Given the description of an element on the screen output the (x, y) to click on. 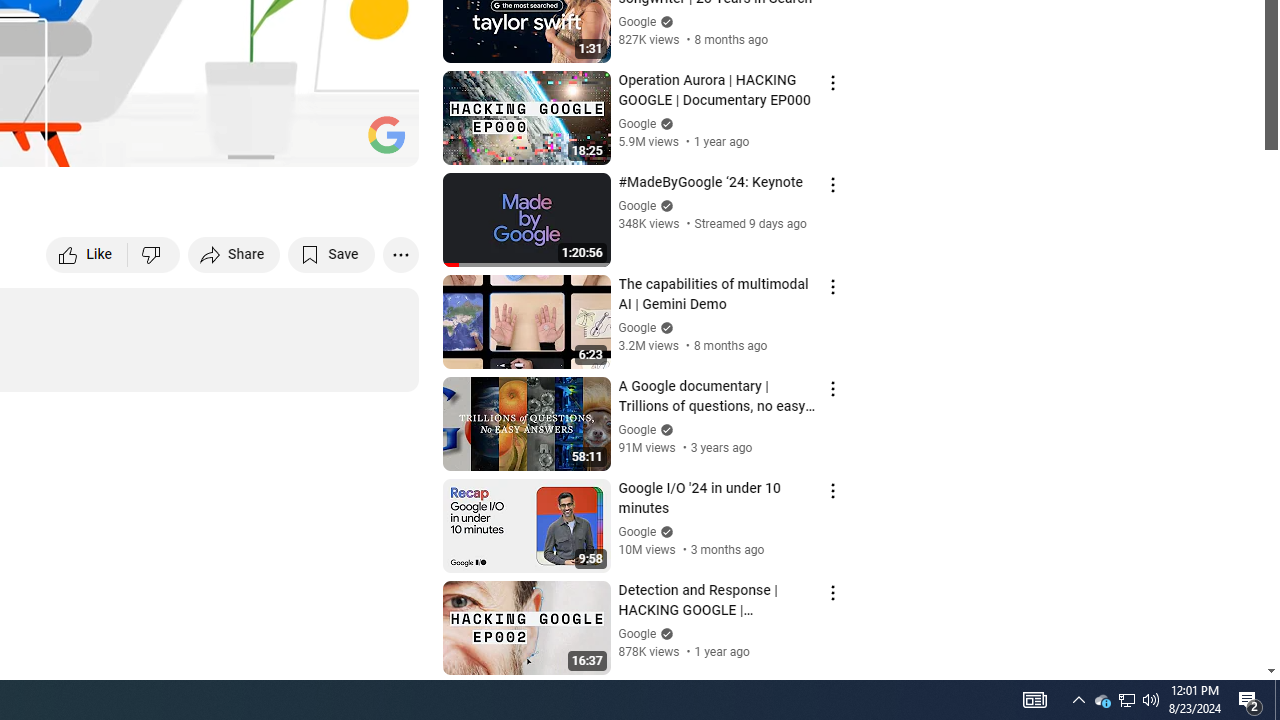
Share (234, 254)
Subtitles/closed captions unavailable (190, 142)
More actions (399, 254)
Verified (664, 632)
Miniplayer (i) (286, 142)
Full screen (f) (382, 142)
Save to playlist (331, 254)
Channel watermark (386, 134)
Dislike this video (154, 254)
Action menu (832, 592)
Theater mode (t) (333, 142)
